Given the description of an element on the screen output the (x, y) to click on. 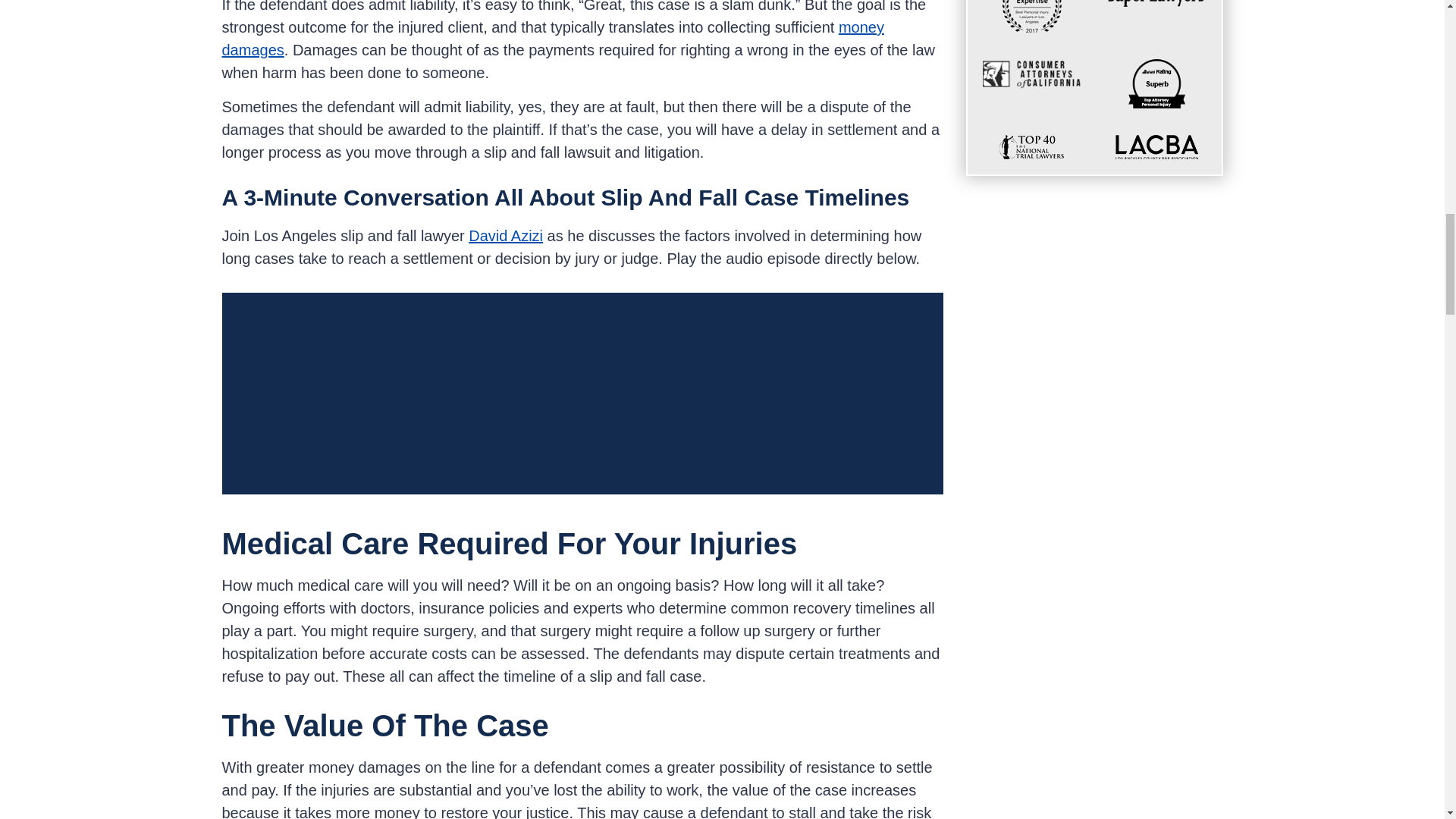
money damages (552, 38)
David Azizi (505, 235)
